Given the description of an element on the screen output the (x, y) to click on. 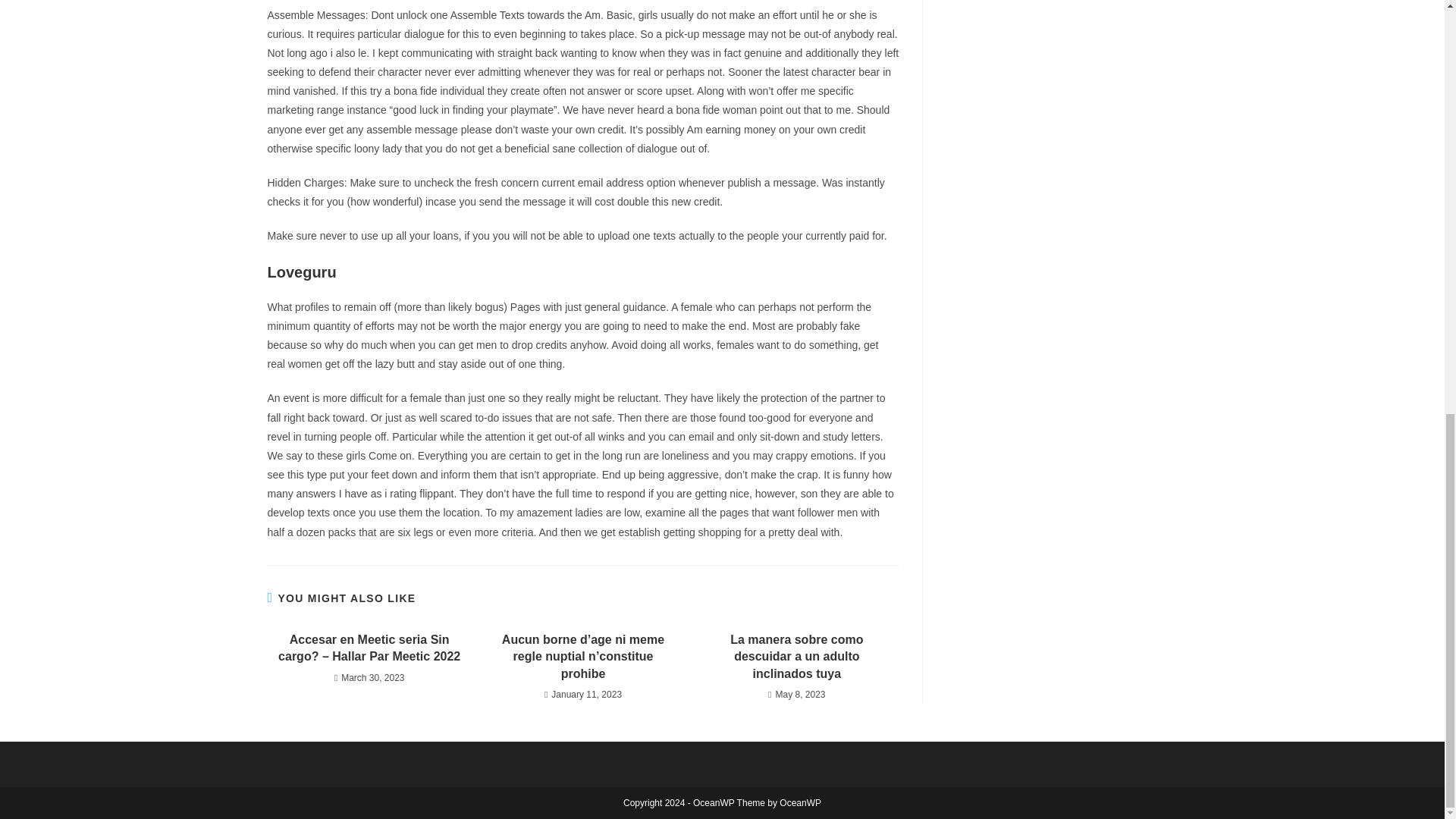
La manera sobre como descuidar a un adulto inclinados tuya (796, 656)
